Given the description of an element on the screen output the (x, y) to click on. 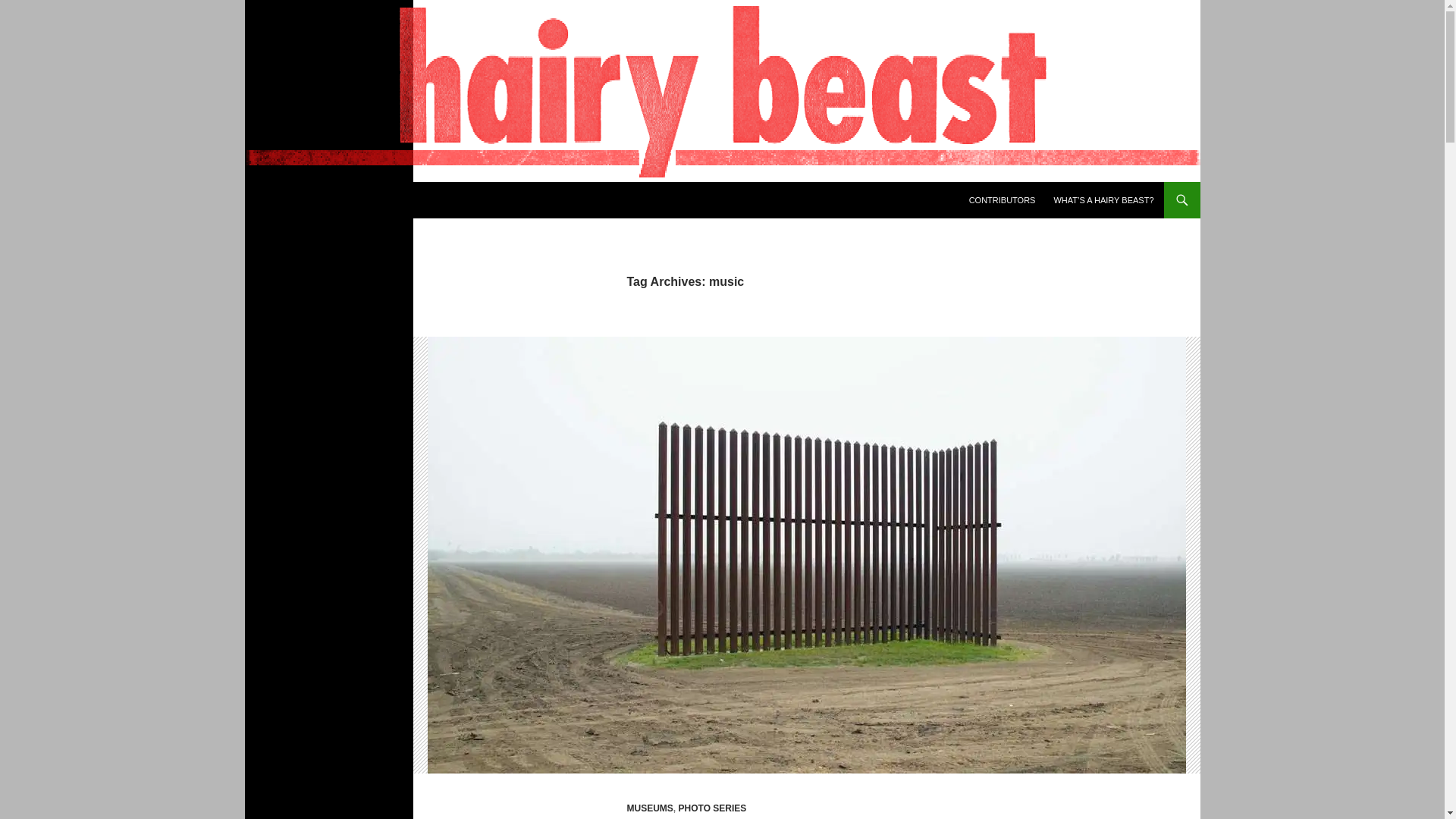
PHOTO SERIES (712, 808)
MUSEUMS (649, 808)
SKIP TO CONTENT (1005, 187)
Search (267, 190)
Hairy Beast (304, 200)
CONTRIBUTORS (1002, 199)
